Given the description of an element on the screen output the (x, y) to click on. 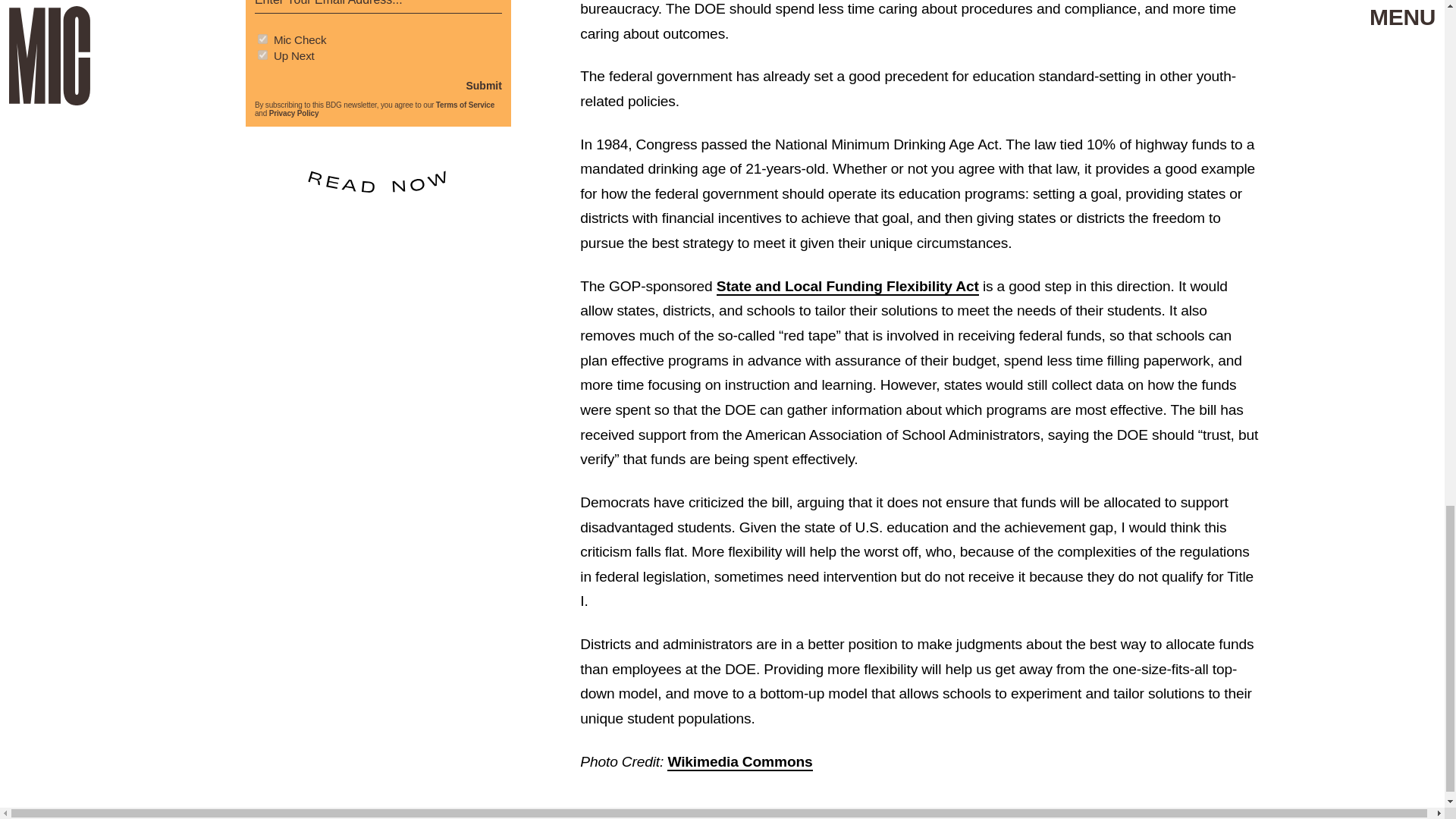
Terms of Service (465, 104)
Submit (482, 85)
State and Local Funding Flexibility Act (847, 286)
Wikimedia Commons (739, 762)
Privacy Policy (293, 112)
